Given the description of an element on the screen output the (x, y) to click on. 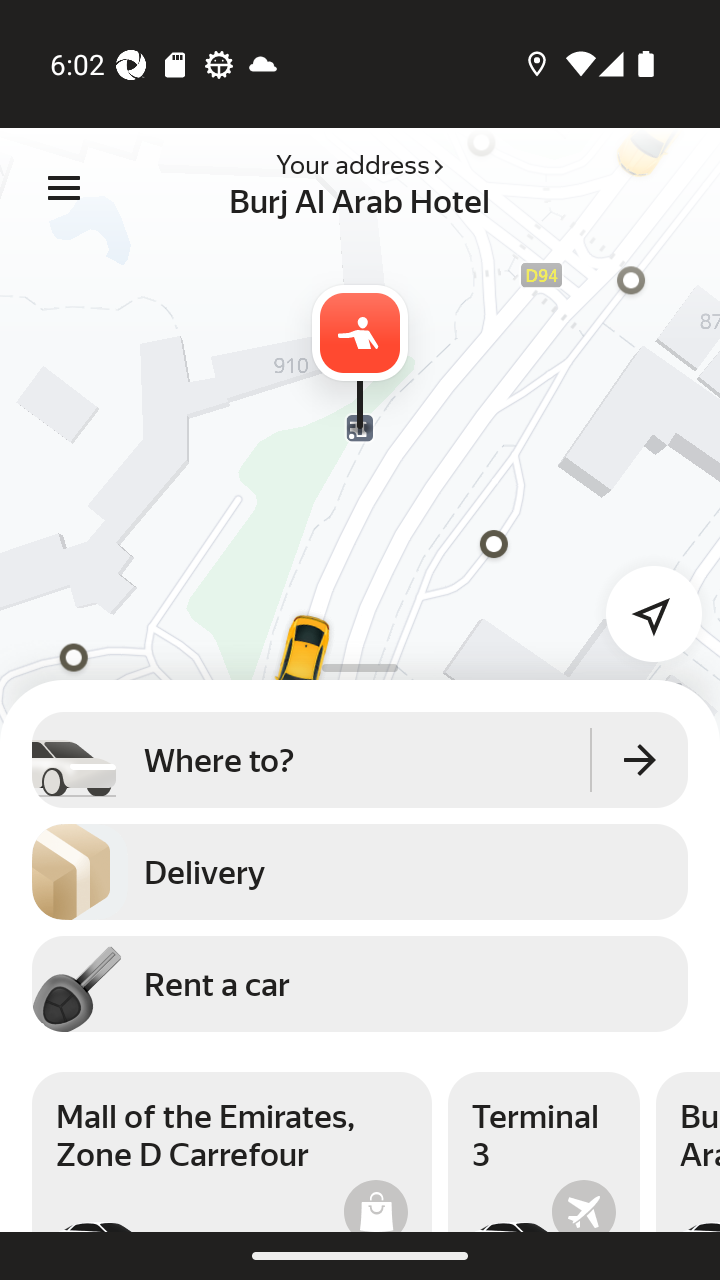
Menu Menu Menu (64, 188)
Detect my location (641, 601)
Where to? Where to? To the choice of address (359, 759)
To the choice of address (639, 759)
Delivery (359, 872)
Rent a сar (359, 983)
Terminal 3,  Terminal 3 Business (543, 1151)
